Given the description of an element on the screen output the (x, y) to click on. 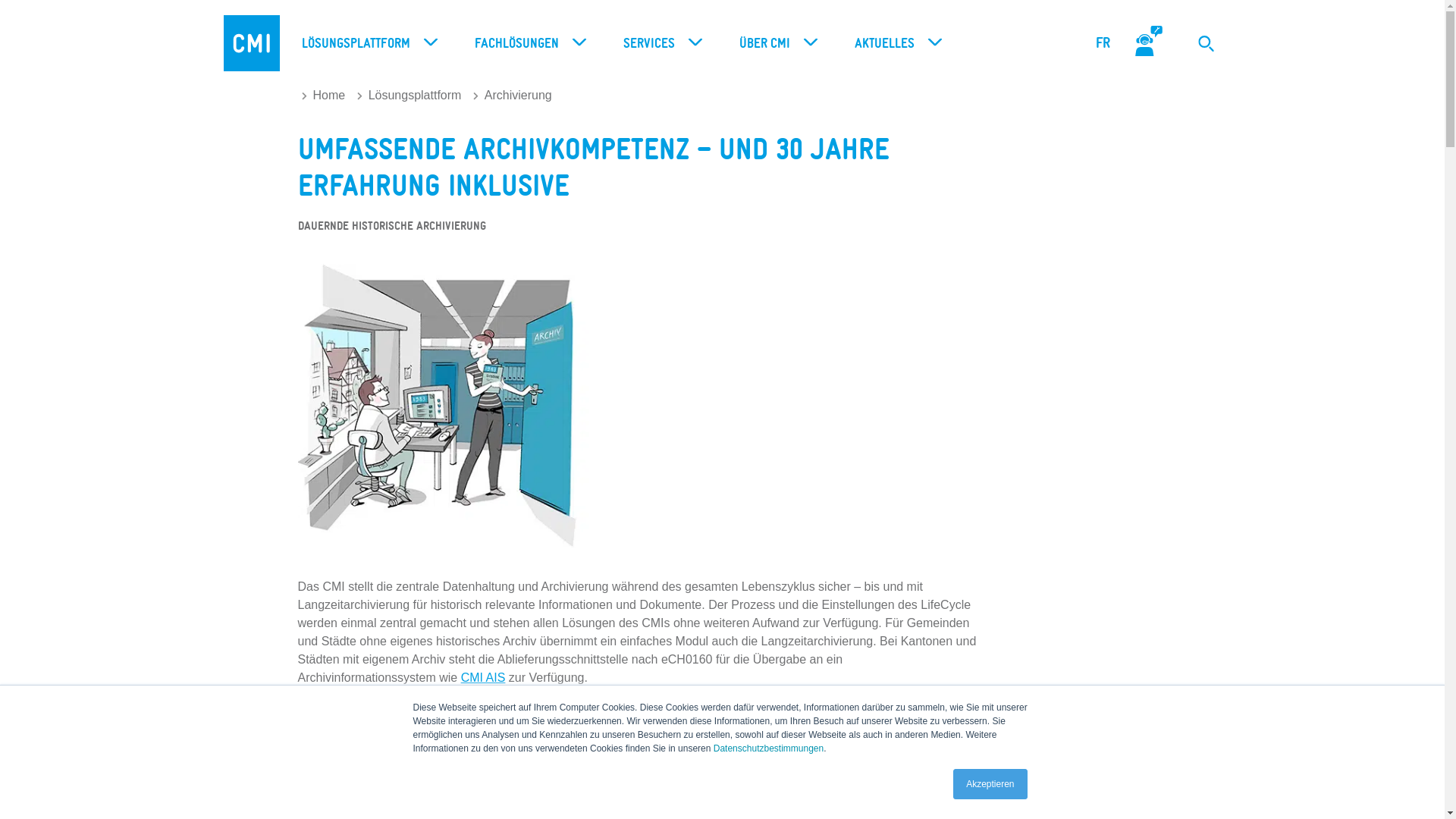
Datenschutzbestimmungen Element type: text (768, 748)
Akzeptieren Element type: text (989, 783)
CMI AIS Element type: text (483, 677)
FR Element type: text (1103, 43)
AKTUELLES Element type: text (893, 43)
Home Element type: text (323, 94)
